Given the description of an element on the screen output the (x, y) to click on. 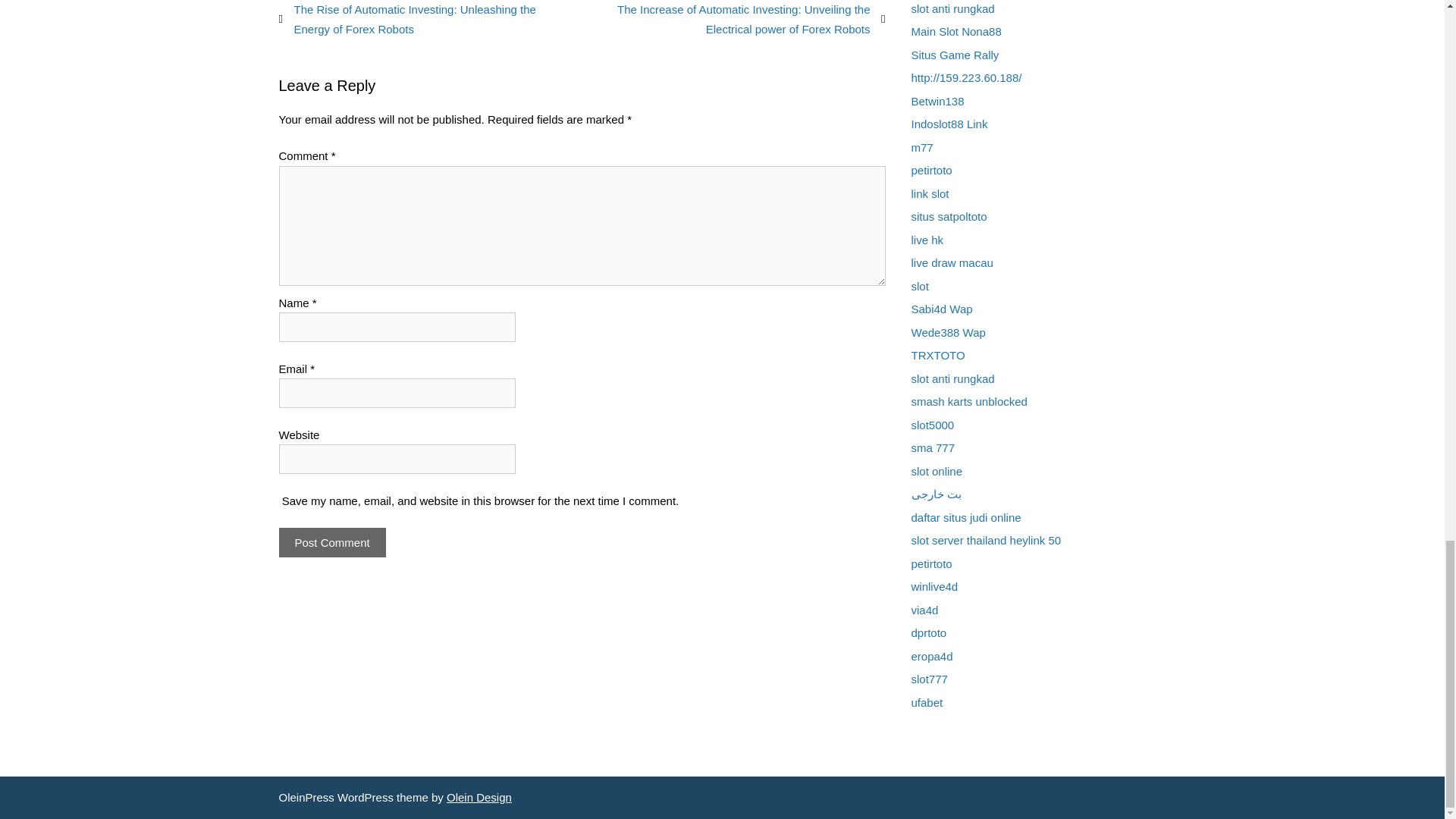
Post Comment (332, 542)
Post Comment (332, 542)
